Given the description of an element on the screen output the (x, y) to click on. 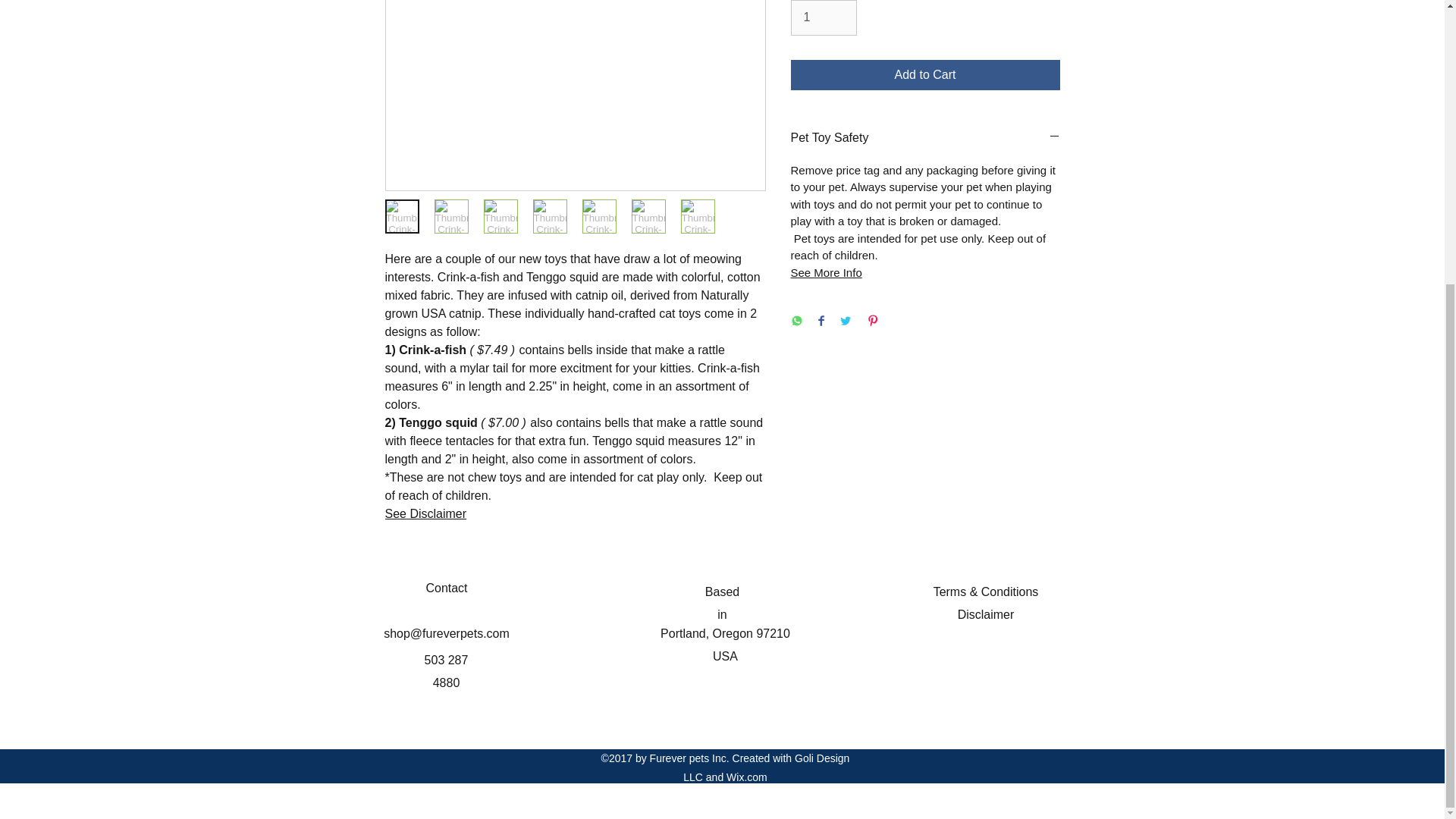
See More Info (825, 272)
Pet Toy Safety (924, 137)
See Disclaimer (426, 513)
1 (823, 17)
Add to Cart (924, 74)
